Given the description of an element on the screen output the (x, y) to click on. 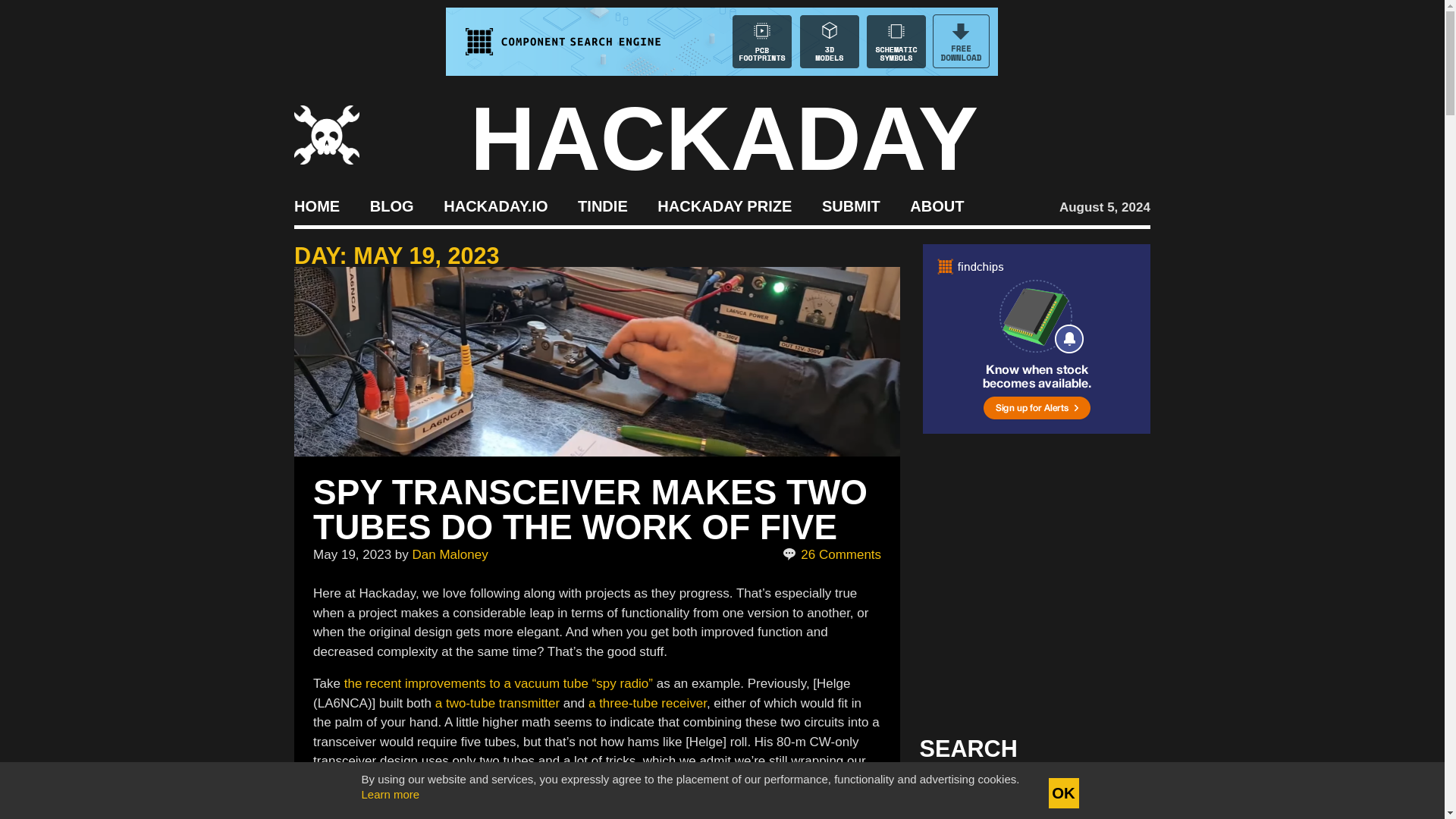
SUBMIT (851, 205)
a three-tube receiver (647, 703)
SPY TRANSCEIVER MAKES TWO TUBES DO THE WORK OF FIVE (590, 509)
Build Something that Matters (725, 205)
May 19, 2023 - 10:00 pm (352, 554)
Search (1115, 792)
a two-tube transmitter (497, 703)
BLOG (391, 205)
TINDIE (602, 205)
ABOUT (936, 205)
HACKADAY PRIZE (725, 205)
May 19, 2023 (352, 554)
26 Comments (832, 555)
Posts by Dan Maloney (449, 554)
Search (1115, 792)
